Given the description of an element on the screen output the (x, y) to click on. 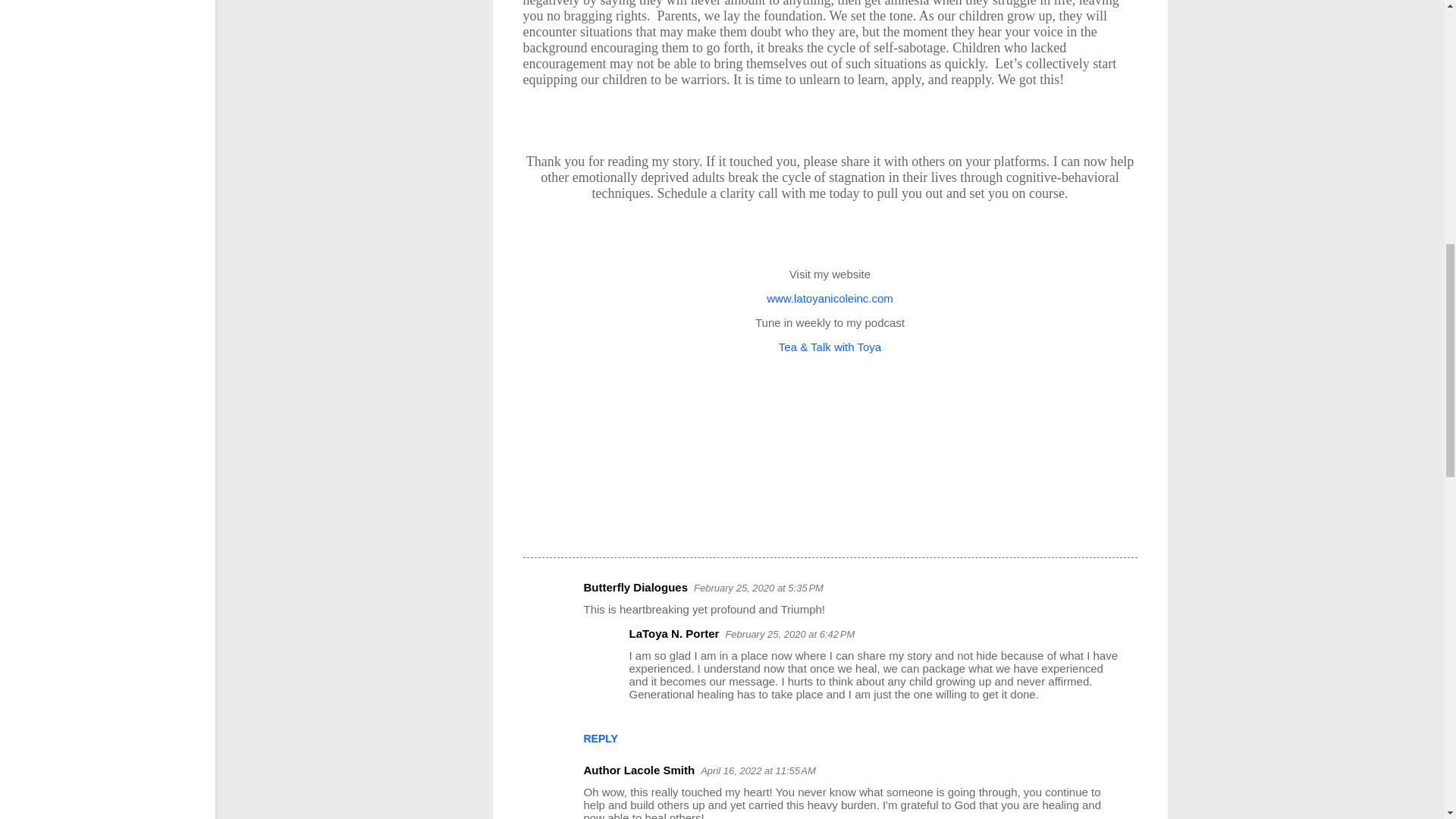
LaToya N. Porter (673, 633)
REPLY (600, 738)
www.latoyanicoleinc.com (830, 297)
Butterfly Dialogues (635, 586)
Author Lacole Smith (639, 769)
